Given the description of an element on the screen output the (x, y) to click on. 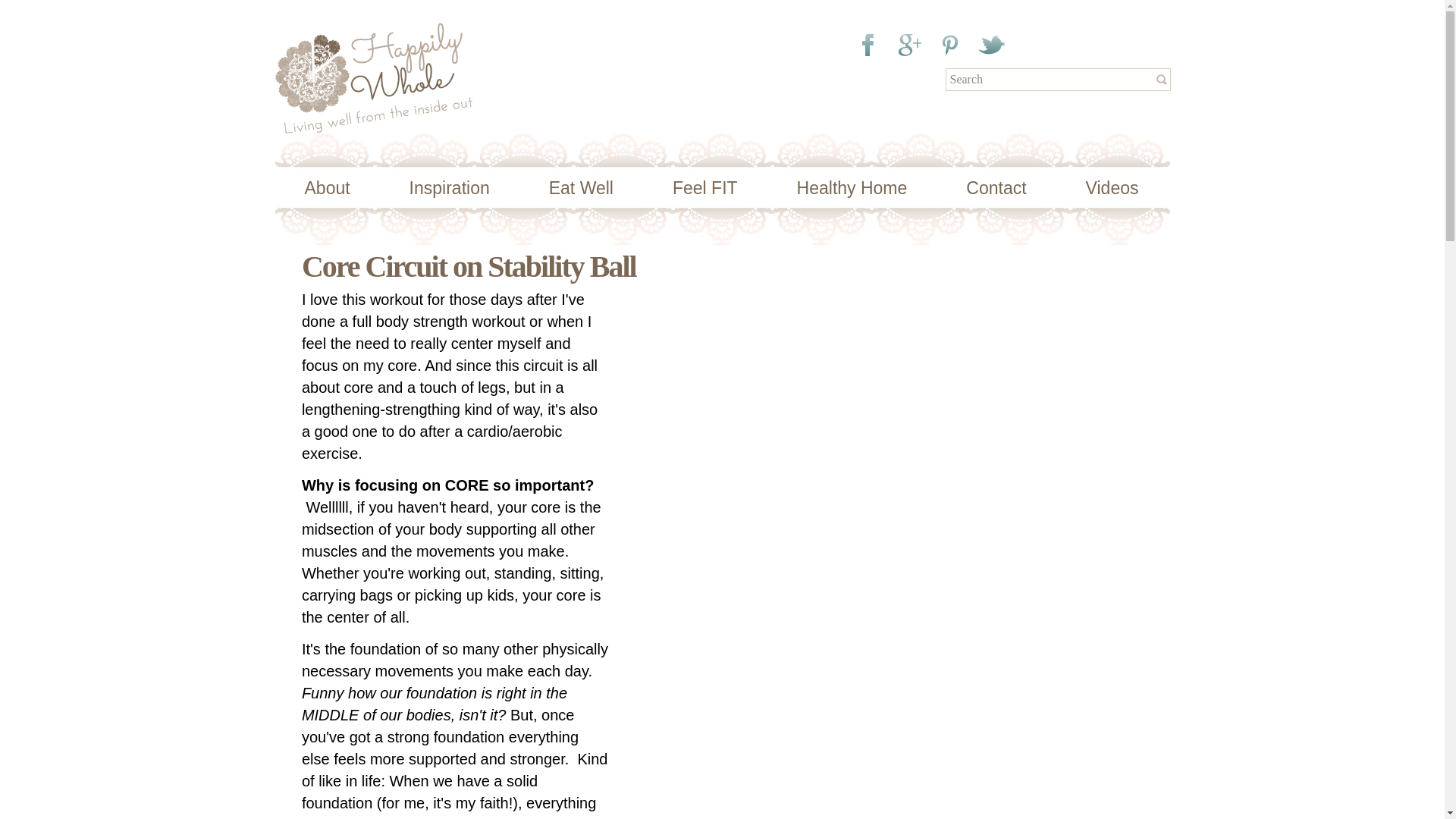
Twitter (995, 44)
Healthy Home (852, 188)
About (327, 188)
Inspiration (449, 188)
Happily Whole (373, 122)
Feel FIT (704, 188)
Facebook (869, 44)
Eat Well (580, 188)
Videos (1111, 188)
Pinterest (949, 44)
